Given the description of an element on the screen output the (x, y) to click on. 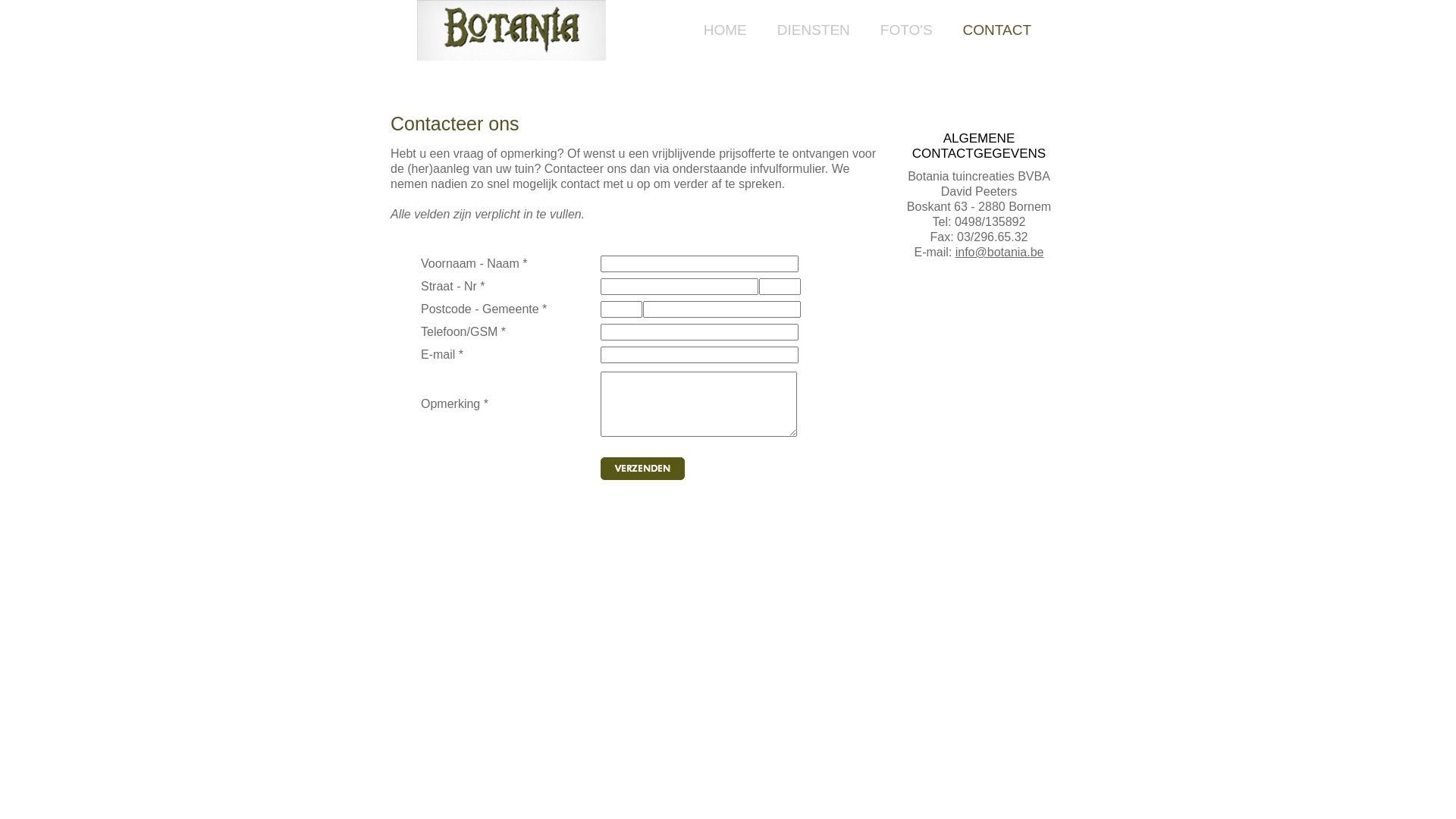
CONTACT Element type: text (996, 29)
FOTO'S Element type: text (906, 29)
info@botania.be Element type: text (999, 251)
DIENSTEN Element type: text (813, 29)
Webdesign door Siteseaing Element type: text (1027, 560)
HOME Element type: text (725, 29)
